Given the description of an element on the screen output the (x, y) to click on. 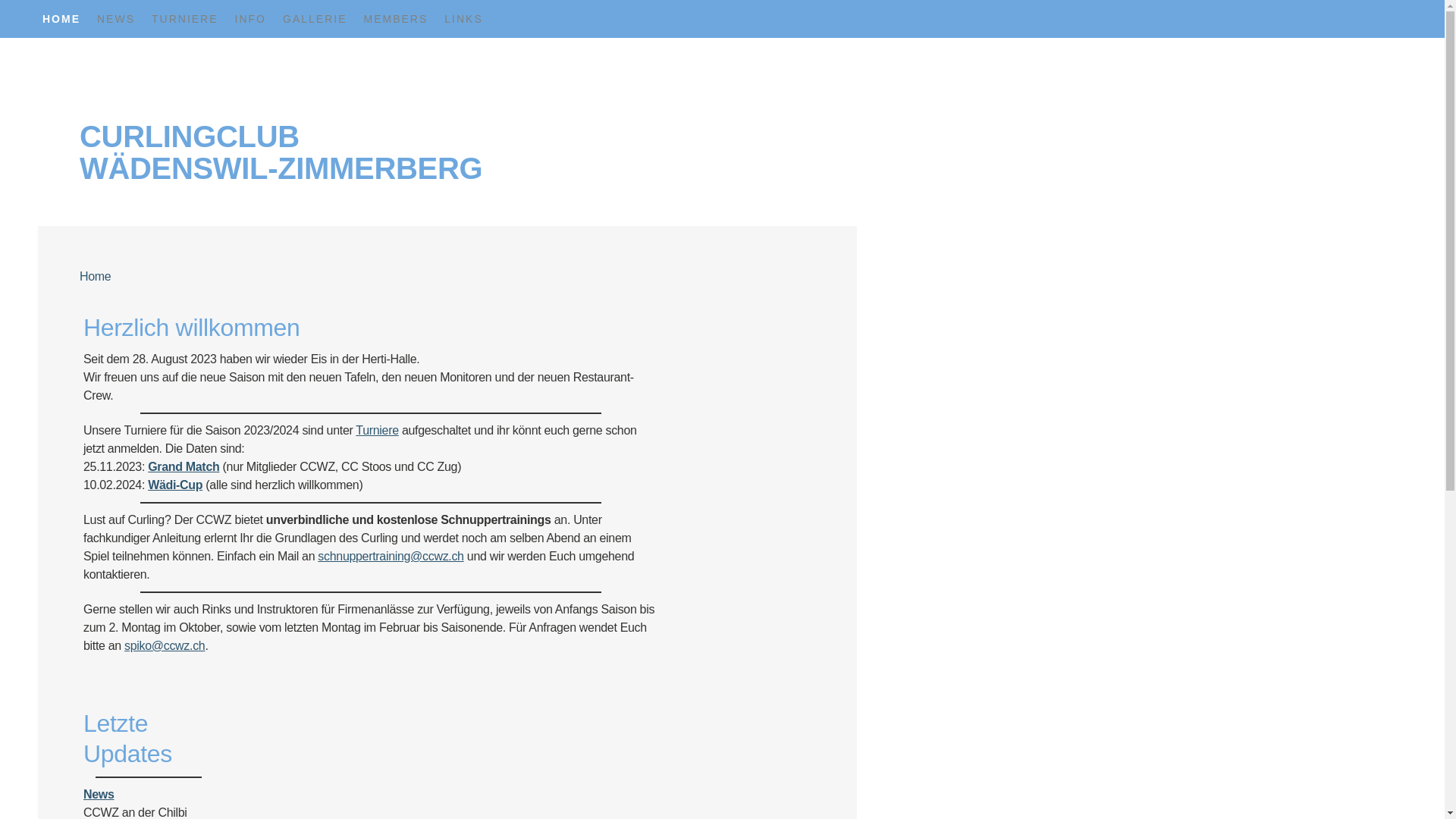
Turniere Element type: text (376, 429)
schnuppertraining@ccwz.ch Element type: text (390, 555)
INFO Element type: text (250, 18)
Grand Match Element type: text (183, 466)
GALLERIE Element type: text (314, 18)
spiko@ccwz.ch Element type: text (164, 645)
HOME Element type: text (61, 18)
News Element type: text (98, 793)
MEMBERS Element type: text (395, 18)
LINKS Element type: text (463, 18)
Home Element type: text (97, 276)
NEWS Element type: text (115, 18)
TURNIERE Element type: text (184, 18)
